Given the description of an element on the screen output the (x, y) to click on. 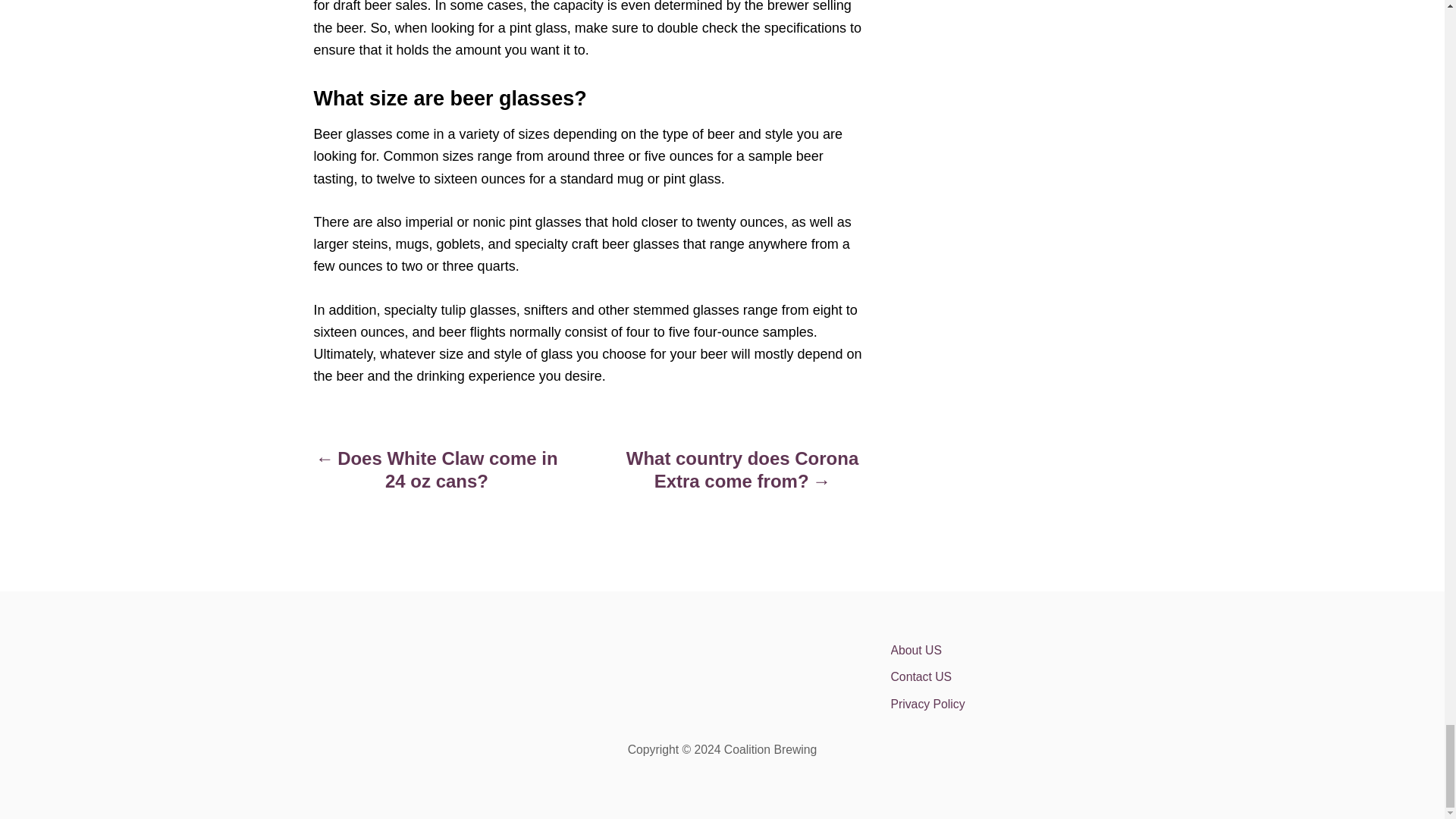
Contact US (1021, 677)
Privacy Policy (1021, 704)
About US (1021, 650)
What country does Corona Extra come from? (741, 477)
Does White Claw come in 24 oz cans? (437, 477)
